Given the description of an element on the screen output the (x, y) to click on. 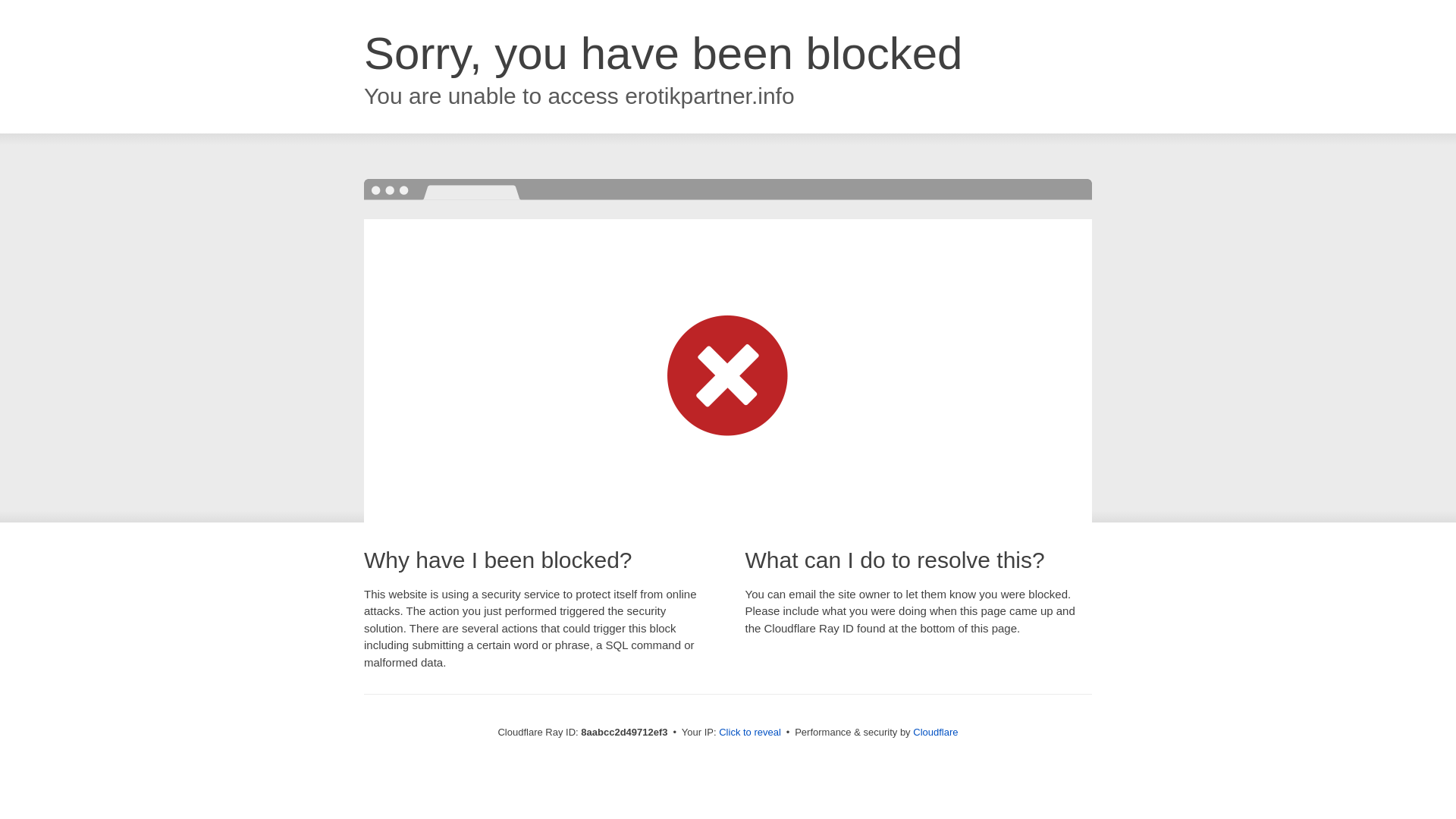
Cloudflare (935, 731)
Click to reveal (749, 732)
